Given the description of an element on the screen output the (x, y) to click on. 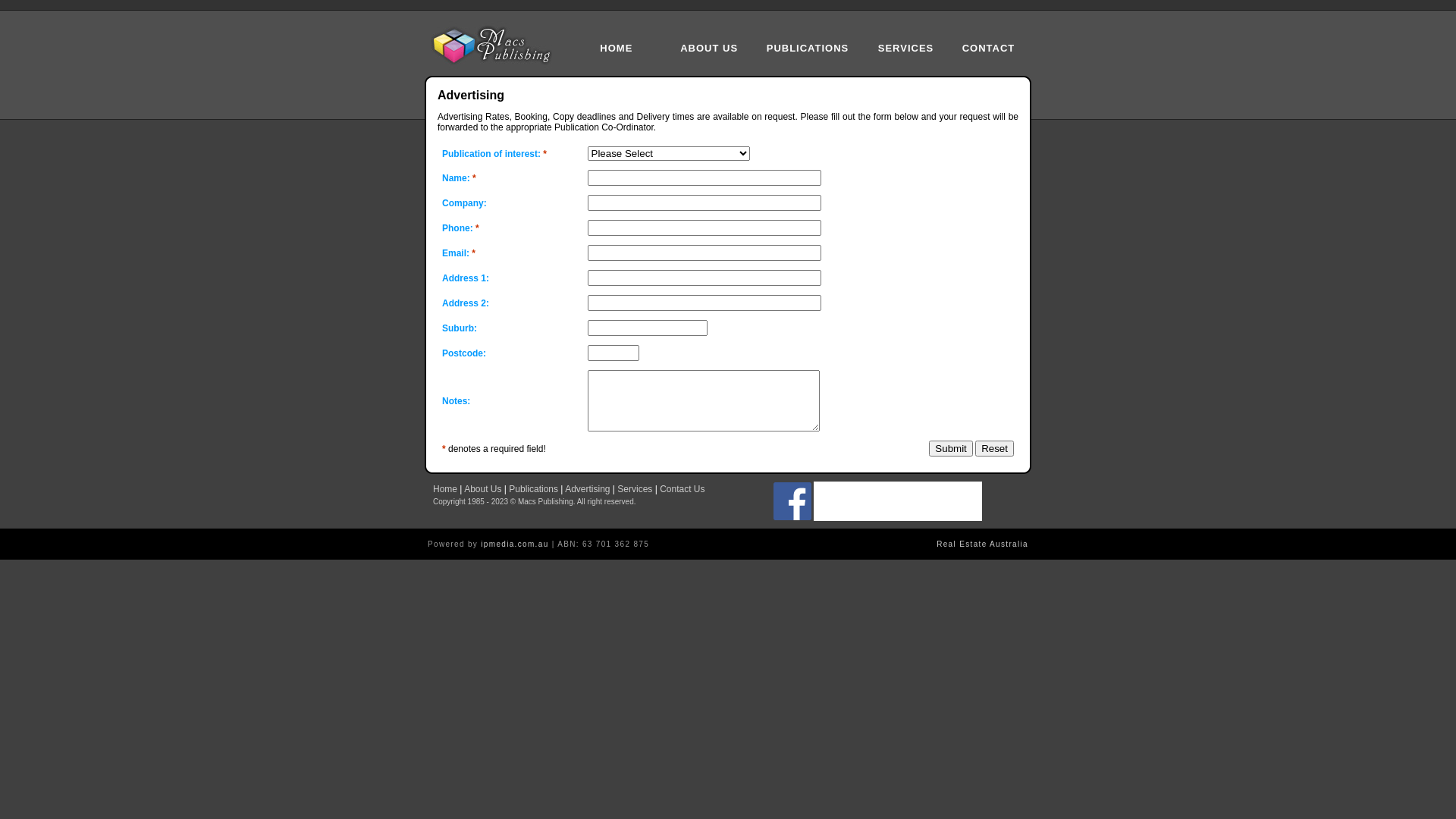
Home Element type: text (445, 488)
Services Element type: text (634, 488)
Advertising Element type: text (586, 488)
Submit Element type: text (950, 448)
Real Estate Australia Element type: text (982, 543)
Visit Macs Publishing on Facebook Element type: hover (792, 516)
About Us Element type: text (482, 488)
Macs Publishing Element type: hover (495, 45)
ipmedia.com.au Element type: text (514, 543)
Contact Us Element type: text (681, 488)
Publications Element type: text (533, 488)
